Given the description of an element on the screen output the (x, y) to click on. 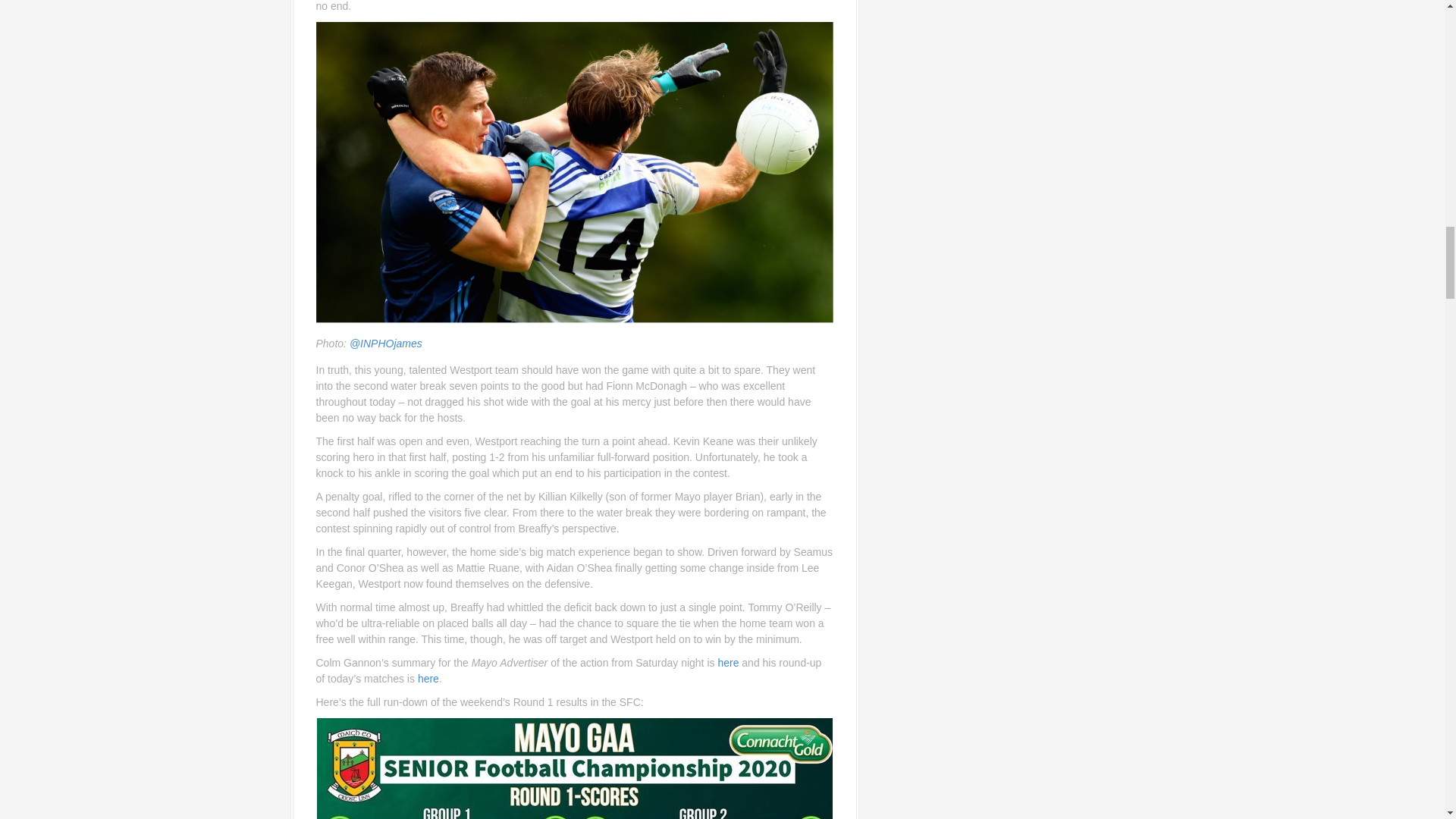
here (727, 662)
here (428, 678)
